Given the description of an element on the screen output the (x, y) to click on. 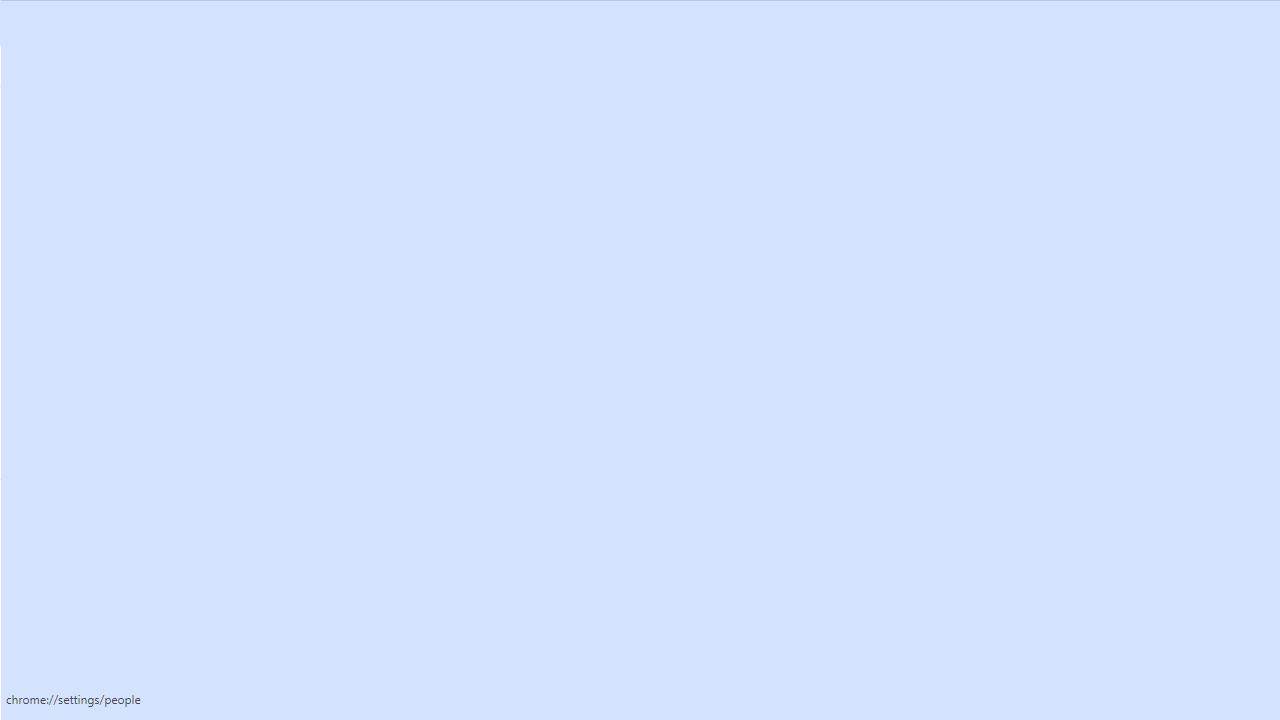
Accessibility (124, 587)
Search engine (124, 370)
Languages (124, 507)
Appearance (124, 331)
Reset settings (124, 668)
Autofill and passwords (124, 210)
Performance (124, 290)
Downloads (124, 547)
On startup (124, 450)
You and Google (124, 170)
